Given the description of an element on the screen output the (x, y) to click on. 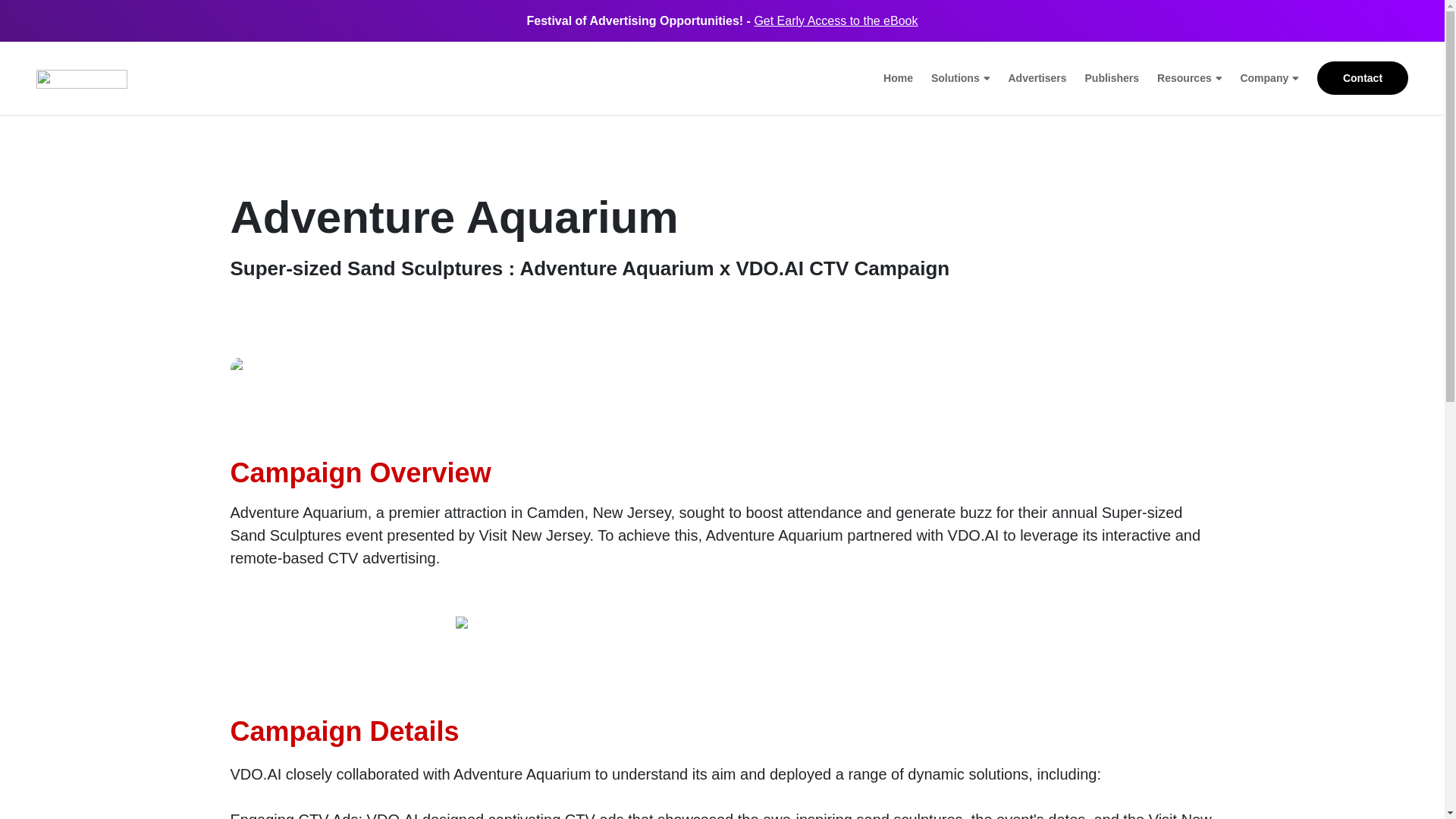
Publishers (1112, 77)
Advertisers (1036, 77)
Home (897, 77)
Contact (1362, 78)
